Given the description of an element on the screen output the (x, y) to click on. 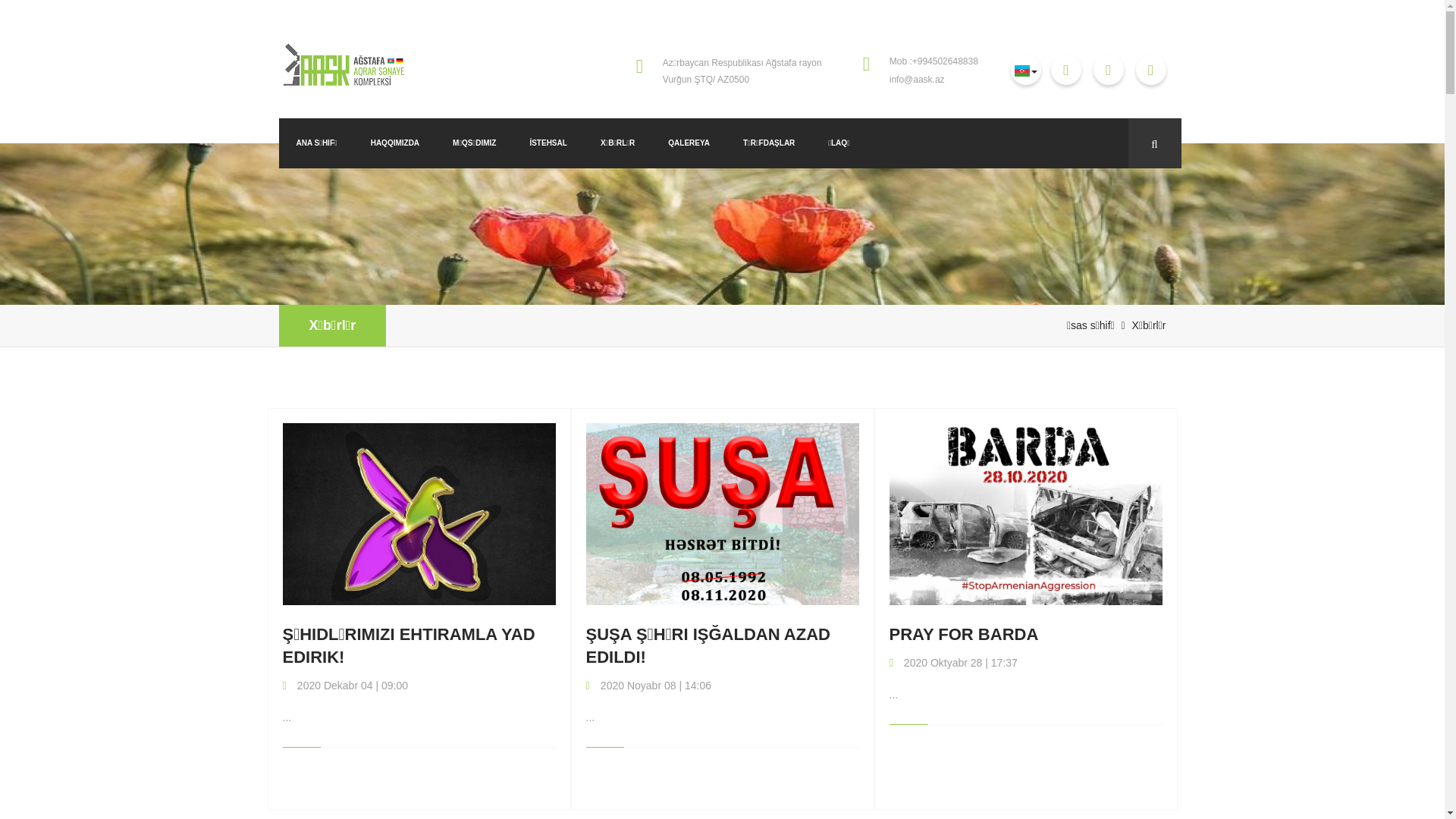
HAQQIMIZDA Element type: text (394, 142)
2020 Oktyabr 28 | 17:37 Element type: text (958, 662)
2020 Dekabr 04 | 09:00 Element type: text (350, 685)
QALEREYA Element type: text (688, 142)
2020 Noyabr 08 | 14:06 Element type: text (654, 685)
